Given the description of an element on the screen output the (x, y) to click on. 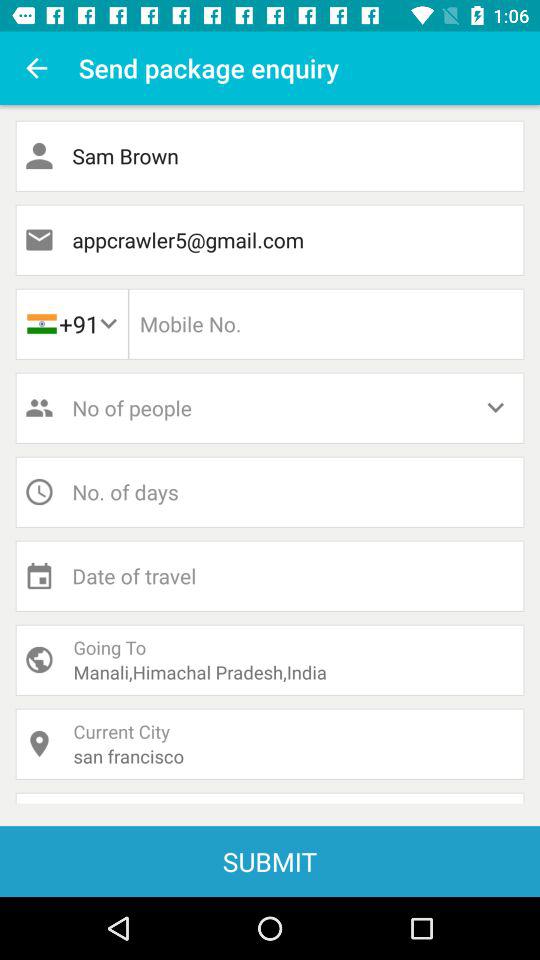
open the icon next to the send package enquiry app (36, 68)
